Given the description of an element on the screen output the (x, y) to click on. 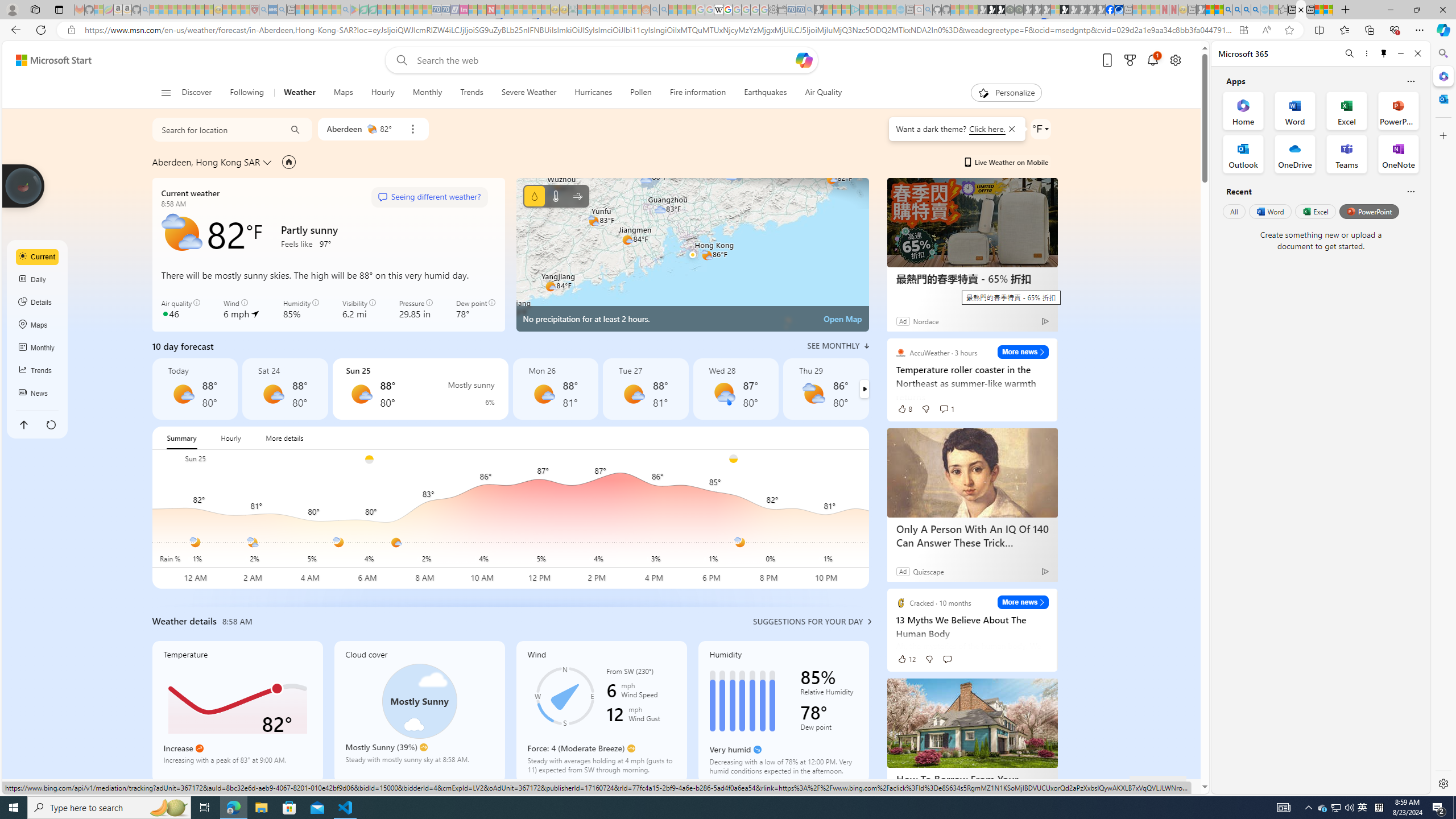
See Monthly (837, 345)
Sign in to your account - Sleeping (1054, 9)
Data Providers (1066, 786)
Join us in planting real trees to help our planet! (23, 185)
Weather settings (1040, 128)
